Given the description of an element on the screen output the (x, y) to click on. 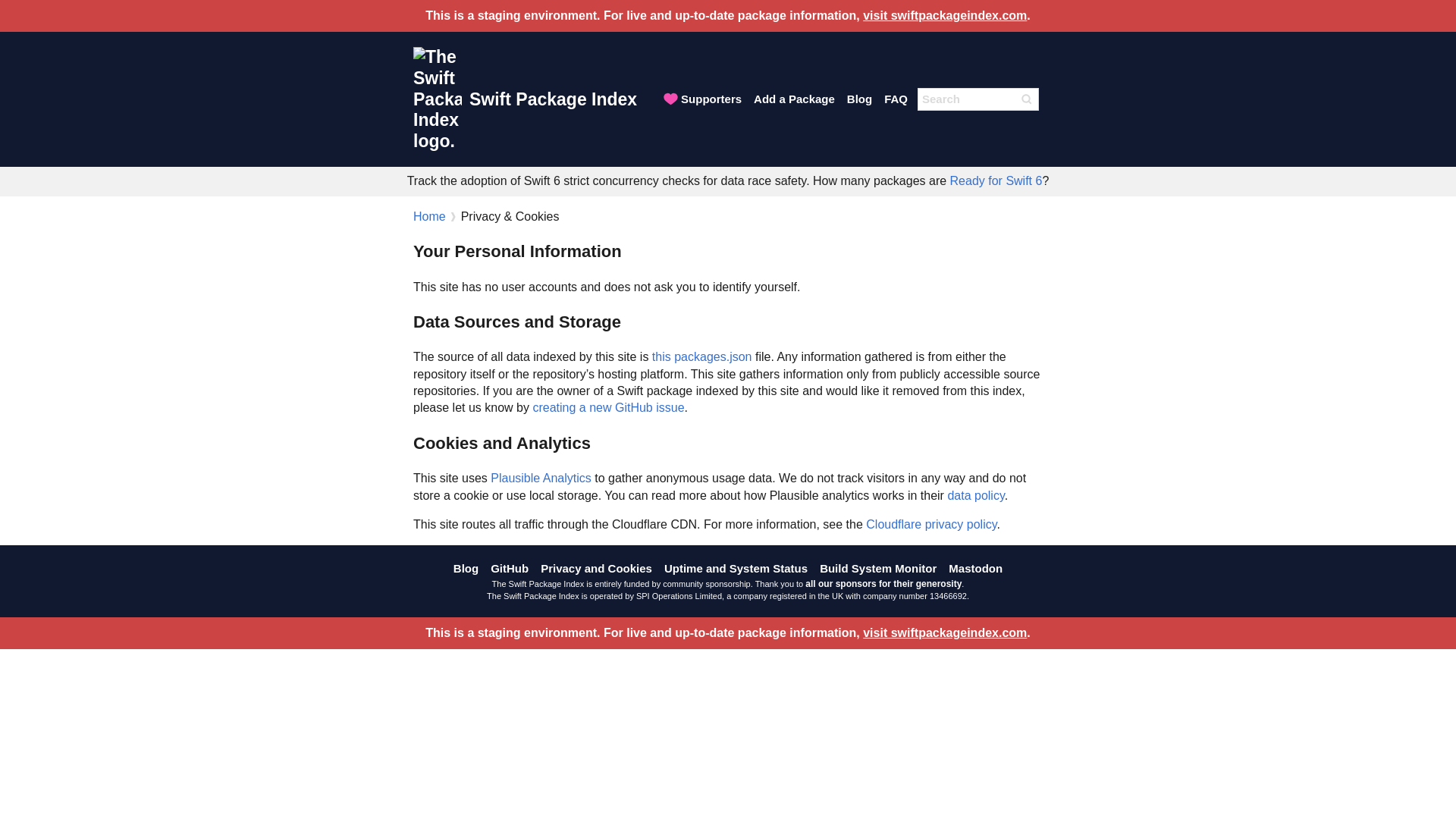
all our sponsors for their generosity (882, 583)
Blog (859, 98)
Cloudflare privacy policy (930, 523)
Ready for Swift 6 (996, 180)
Plausible Analytics (540, 477)
Uptime and System Status (735, 568)
Add a Package (794, 98)
Blog (465, 568)
Supporters (701, 98)
GitHub (509, 568)
FAQ (896, 98)
Build System Monitor (877, 568)
Privacy and Cookies (595, 568)
data policy (975, 495)
this packages.json (702, 356)
